Given the description of an element on the screen output the (x, y) to click on. 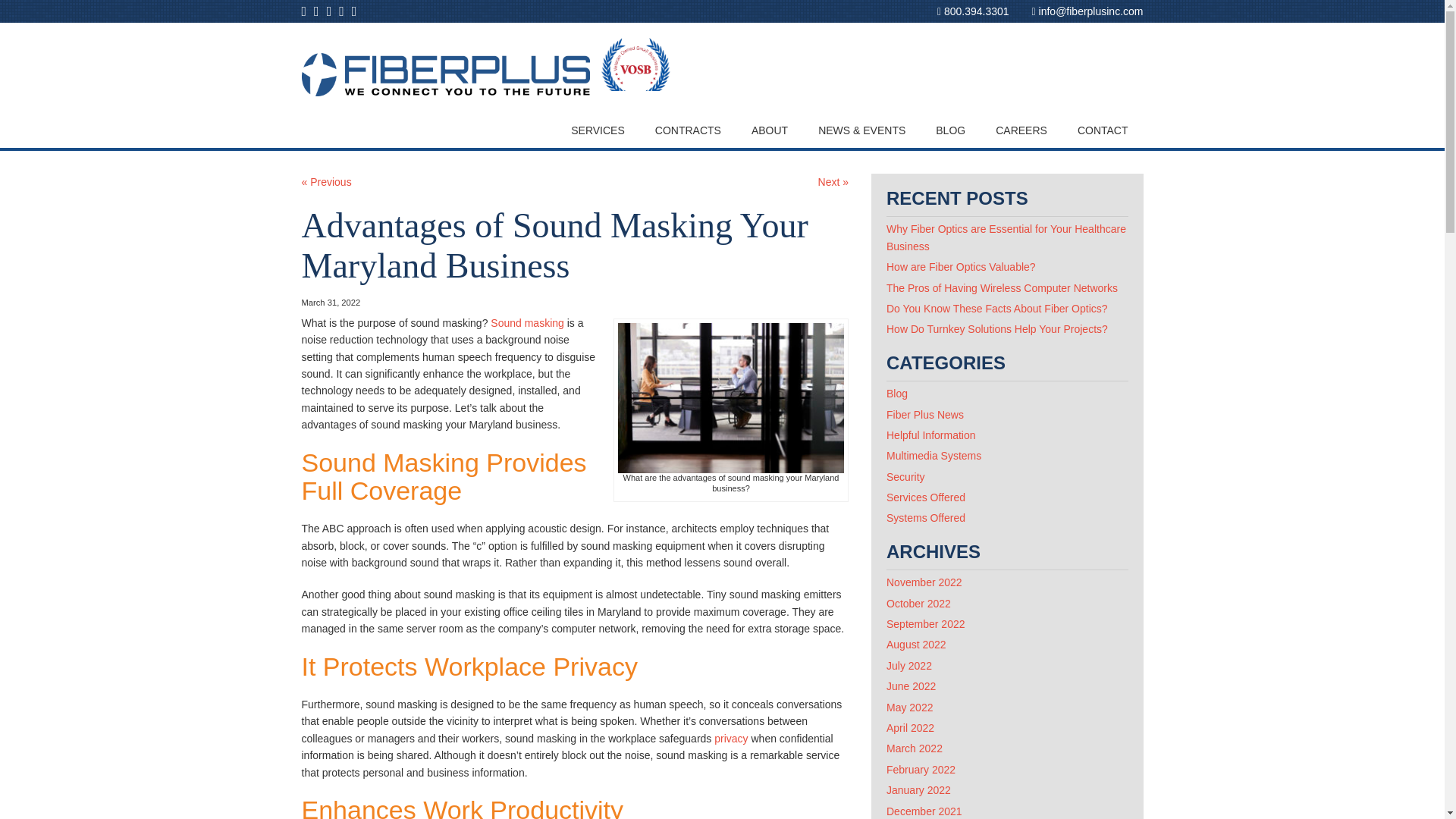
fiberplus sound masking (730, 398)
SERVICES (598, 130)
CONTRACTS (688, 130)
ABOUT (769, 130)
800.394.3301 (973, 10)
